Given the description of an element on the screen output the (x, y) to click on. 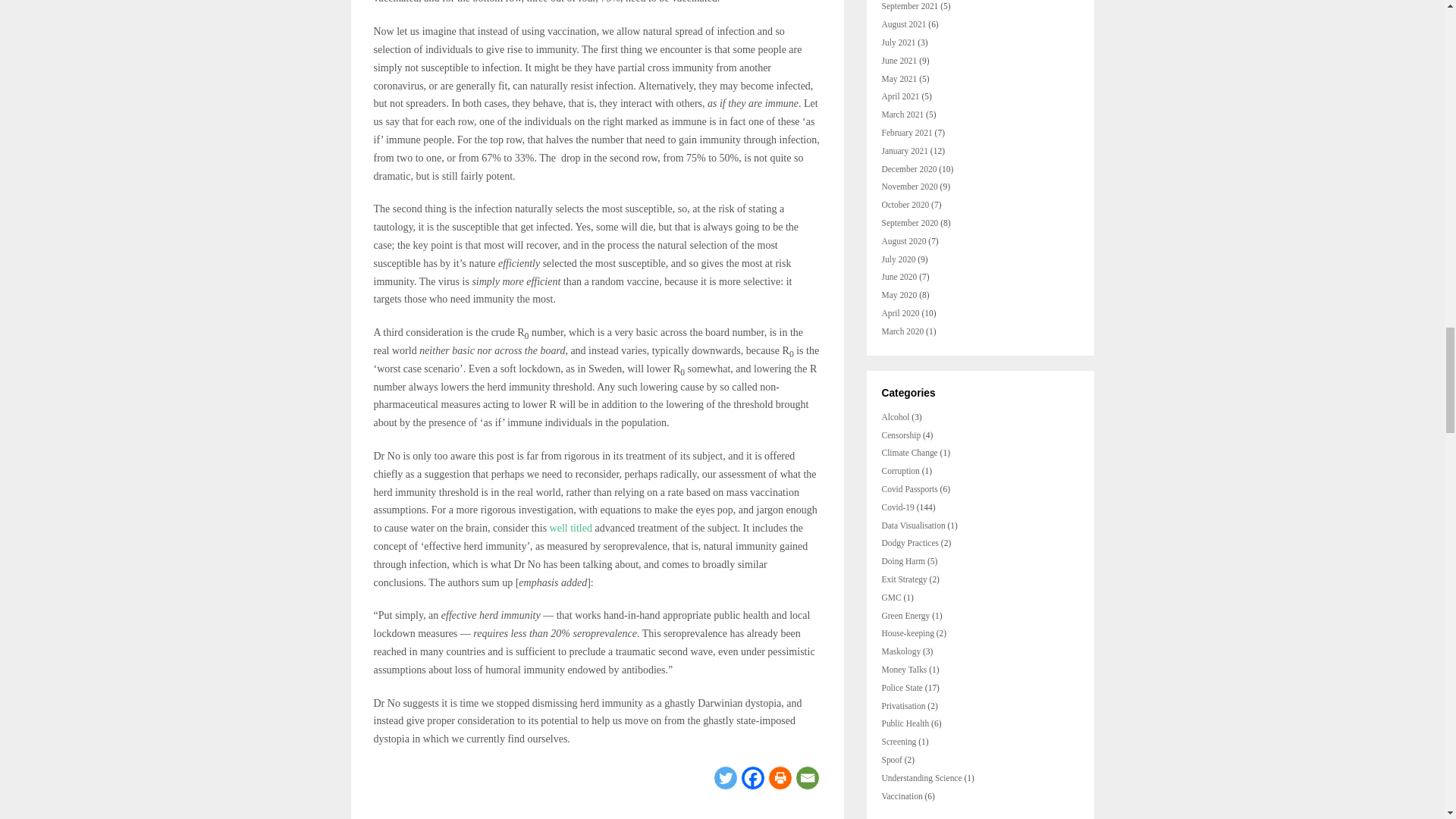
Twitter (724, 777)
well titled (571, 527)
Print (779, 777)
Facebook (751, 777)
Email (806, 777)
